Given the description of an element on the screen output the (x, y) to click on. 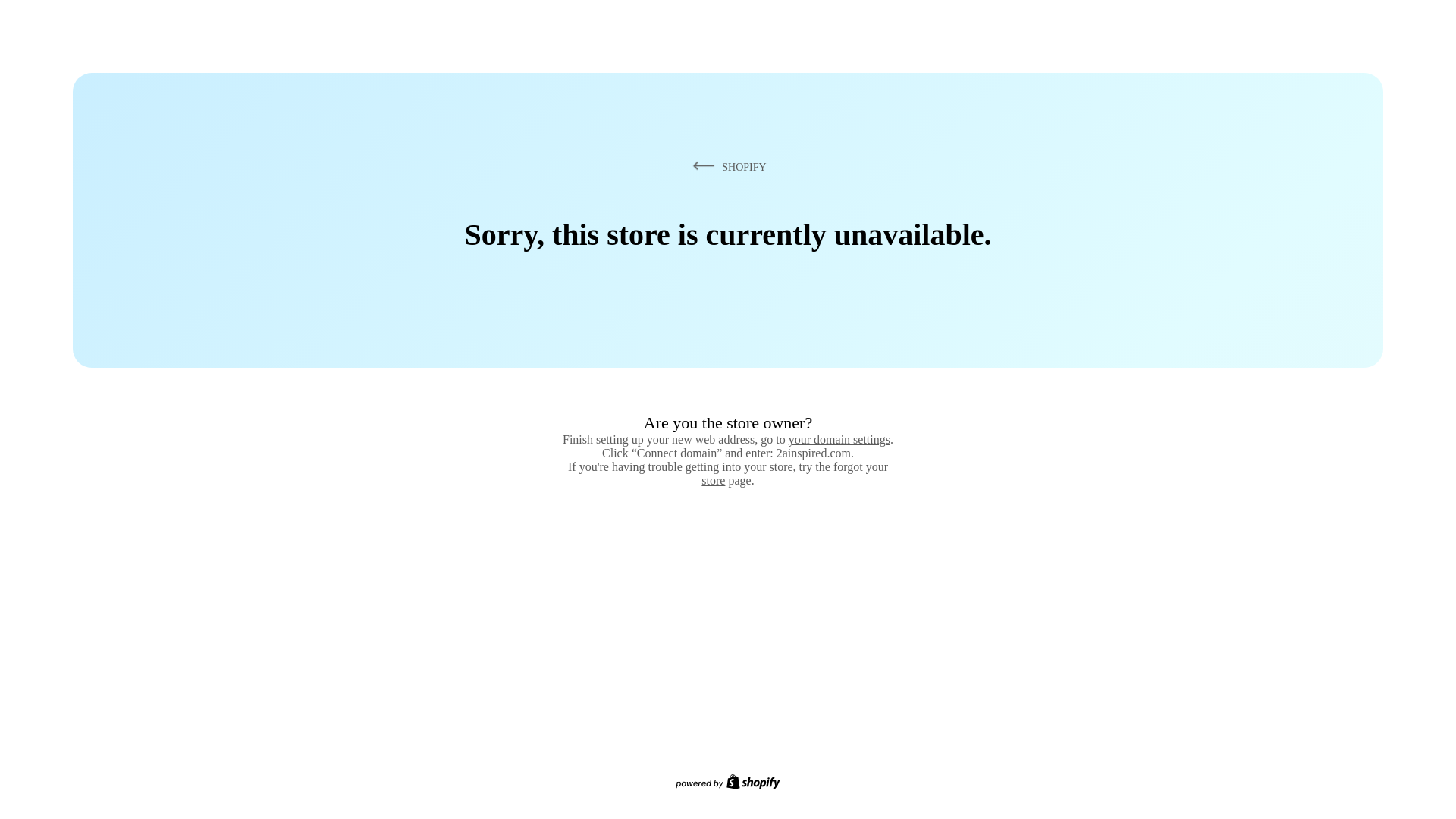
your domain settings Element type: text (839, 439)
SHOPIFY Element type: text (727, 166)
forgot your store Element type: text (794, 473)
